Given the description of an element on the screen output the (x, y) to click on. 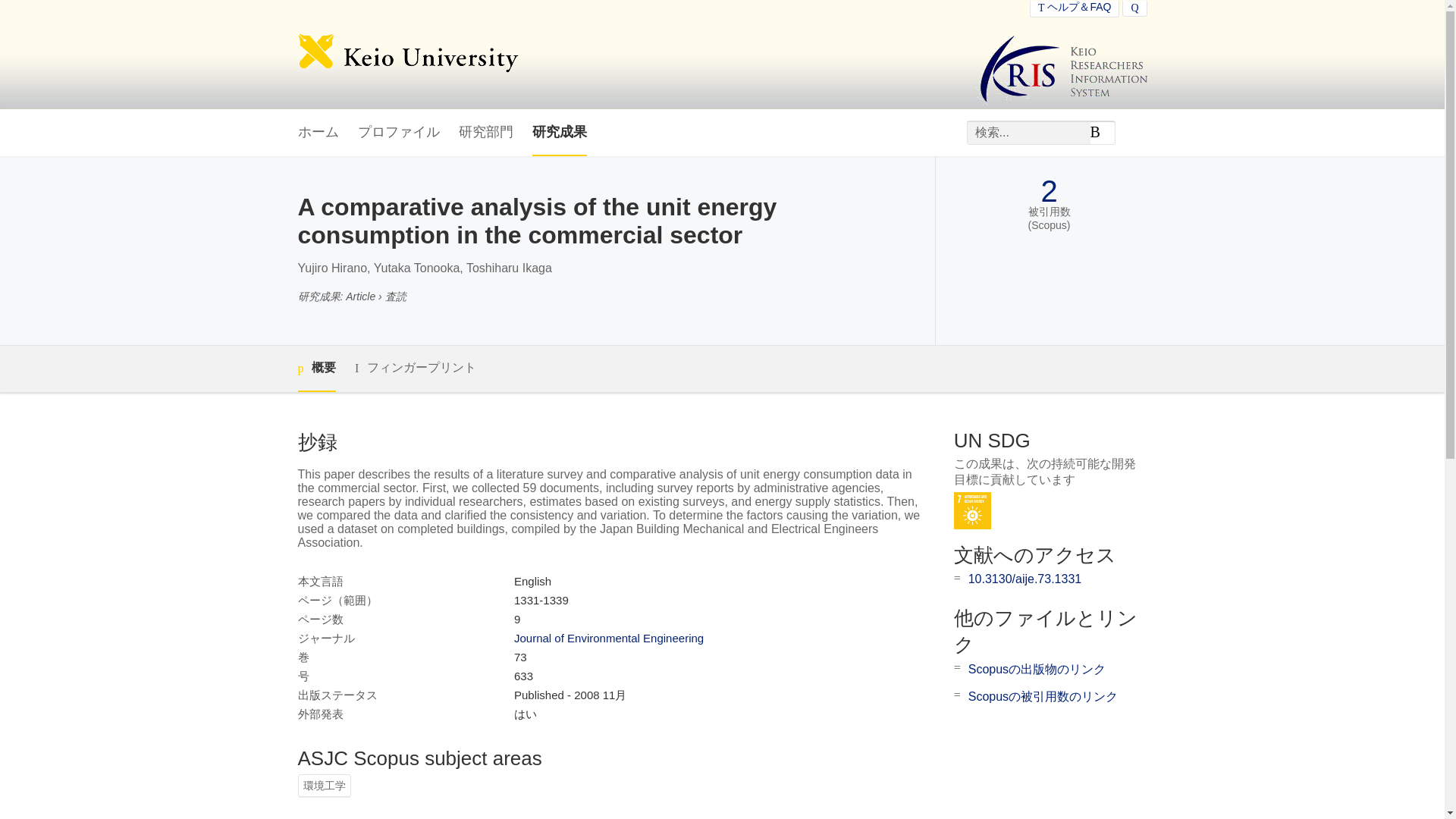
Journal of Environmental Engineering (608, 637)
